Given the description of an element on the screen output the (x, y) to click on. 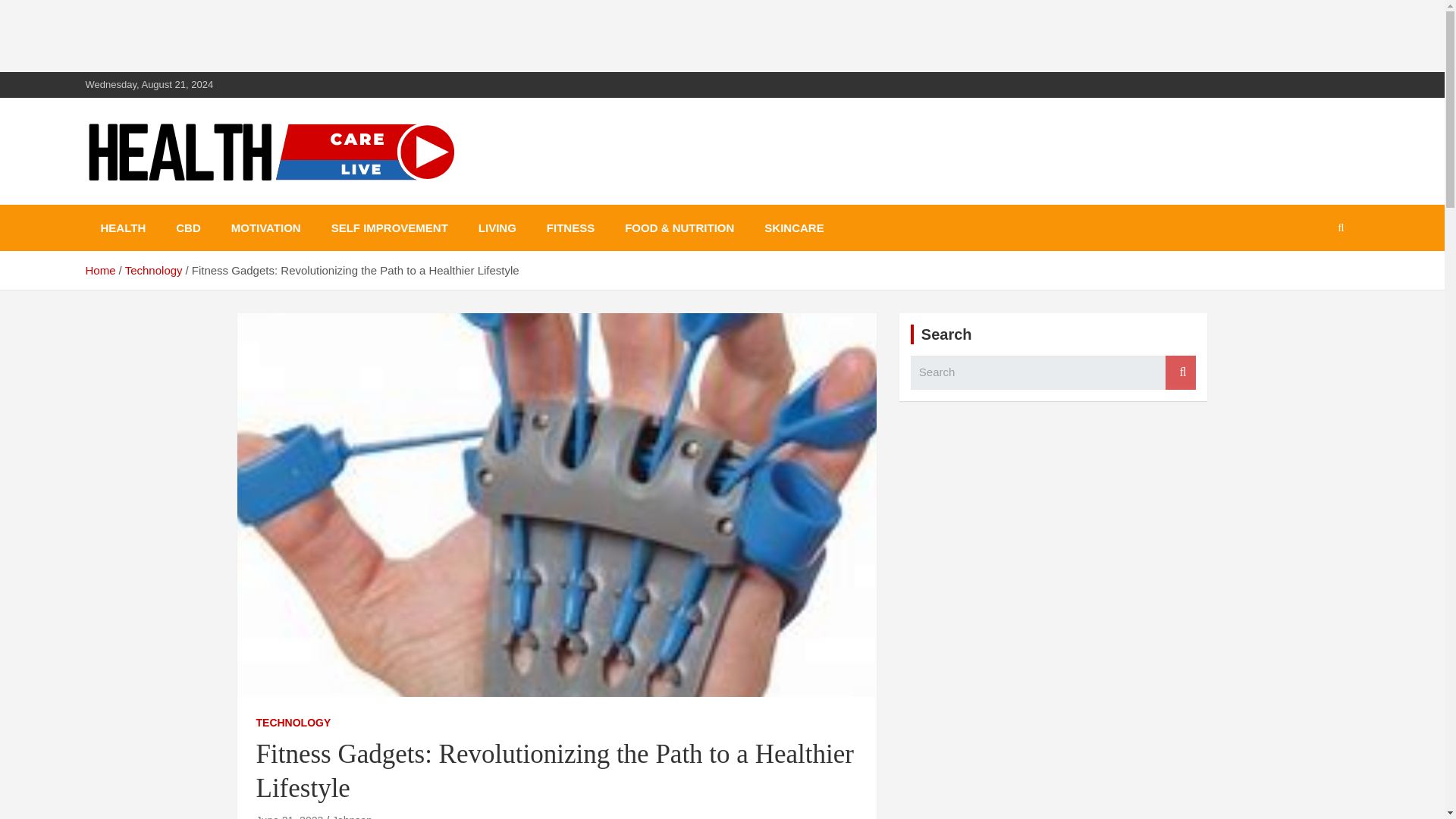
Advertisement (275, 33)
TECHNOLOGY (293, 723)
June 21, 2023 (289, 816)
Health Care Live (202, 201)
Technology (154, 269)
HEALTH (122, 227)
CBD (187, 227)
FITNESS (570, 227)
SKINCARE (793, 227)
SELF IMPROVEMENT (389, 227)
